Given the description of an element on the screen output the (x, y) to click on. 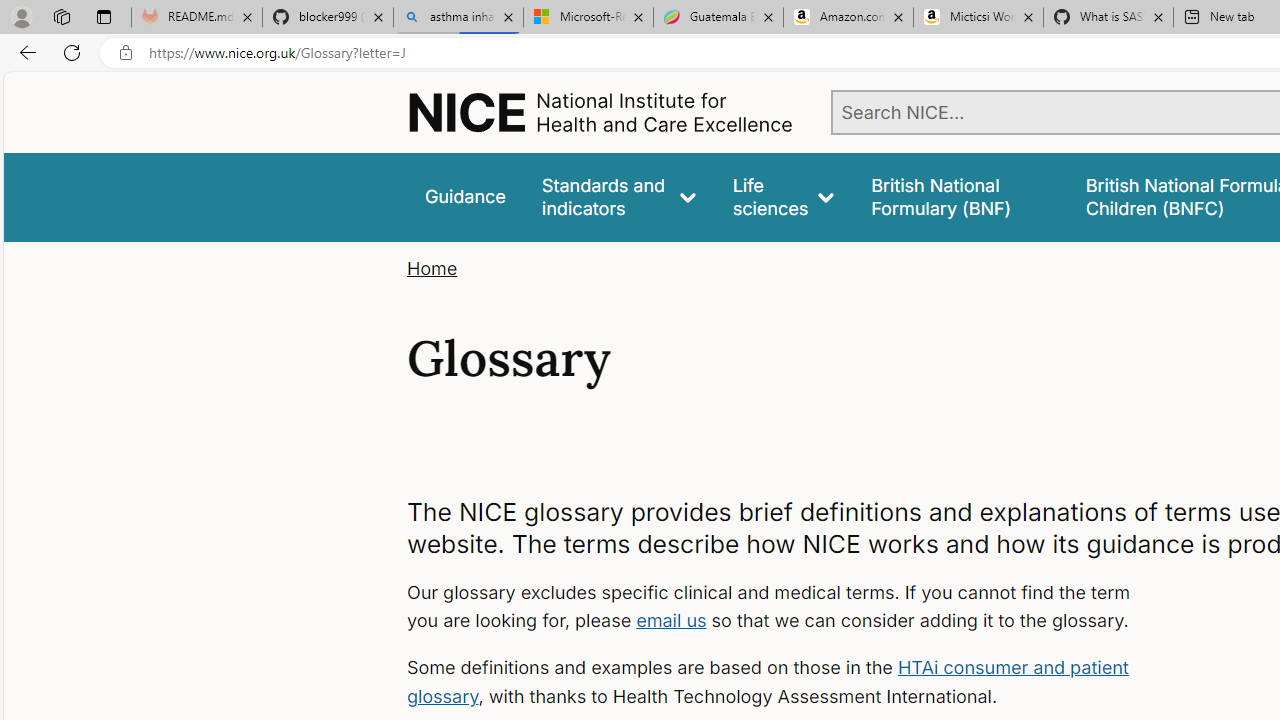
HTAi consumer and patient glossary (766, 681)
false (959, 196)
asthma inhaler - Search (458, 17)
email us (671, 620)
Life sciences (783, 196)
